Given the description of an element on the screen output the (x, y) to click on. 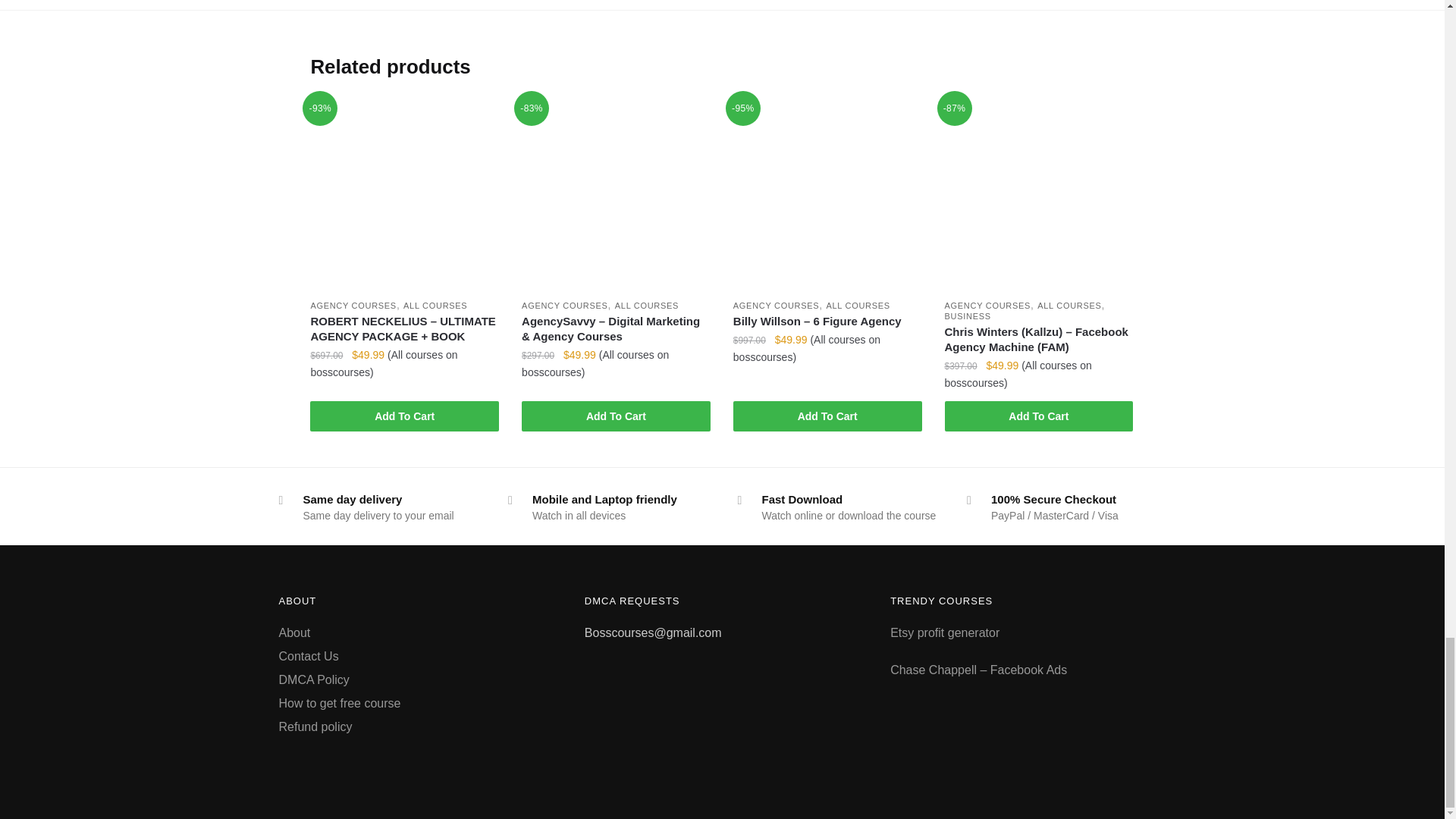
ALL COURSES (646, 305)
Add To Cart (615, 416)
Add To Cart (404, 416)
AGENCY COURSES (564, 305)
ALL COURSES (435, 305)
AGENCY COURSES (353, 305)
